Given the description of an element on the screen output the (x, y) to click on. 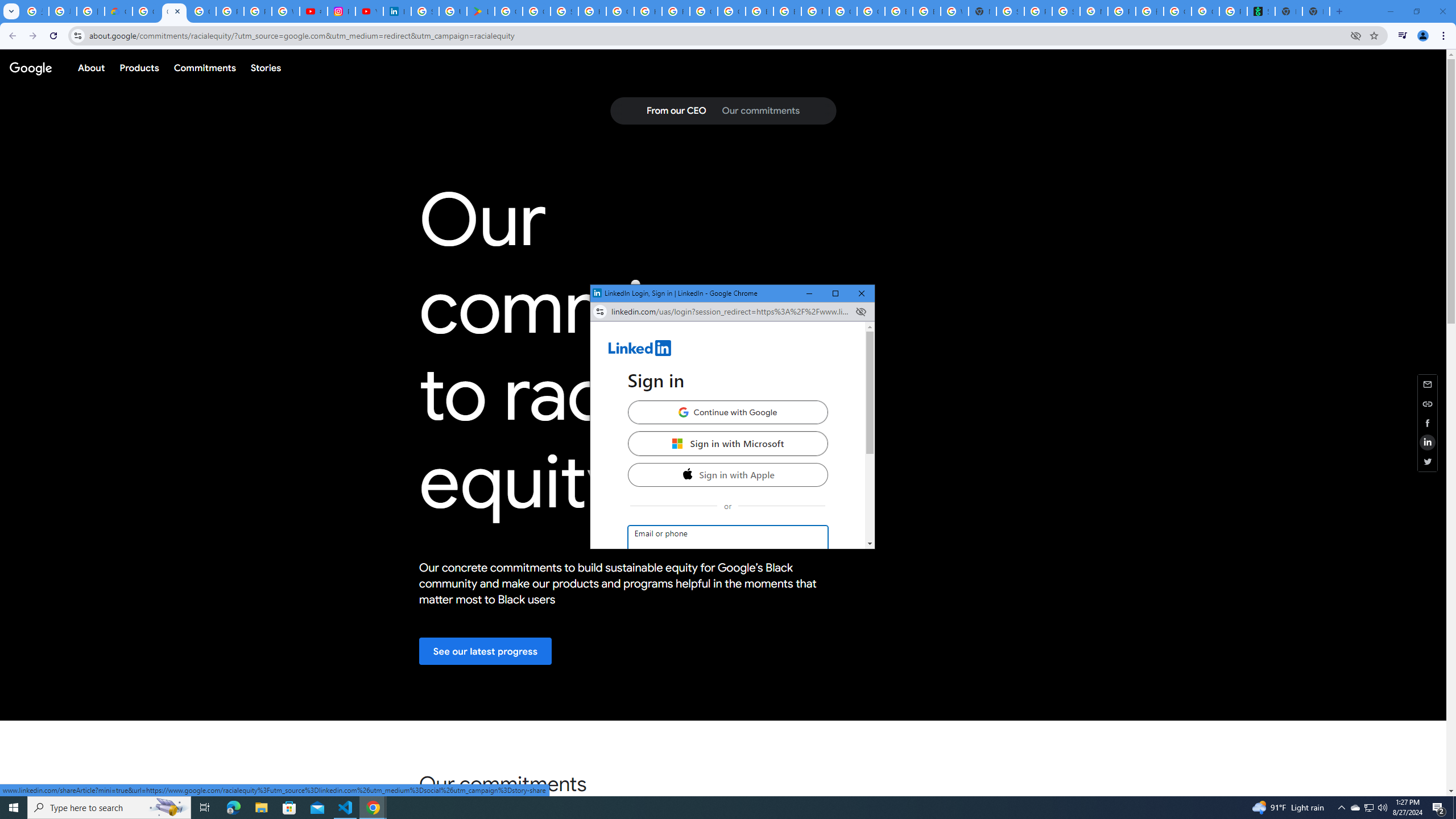
Email or phone (727, 539)
Action Center, 2 new notifications (1439, 807)
Show desktop (1355, 807)
Task View (1454, 807)
LinkedIn (204, 807)
Q2790: 100% (727, 349)
File Explorer (1382, 807)
Maximize (261, 807)
Google Chrome - 3 running windows (835, 293)
Microsoft (373, 807)
Microsoft Store (676, 443)
